Given the description of an element on the screen output the (x, y) to click on. 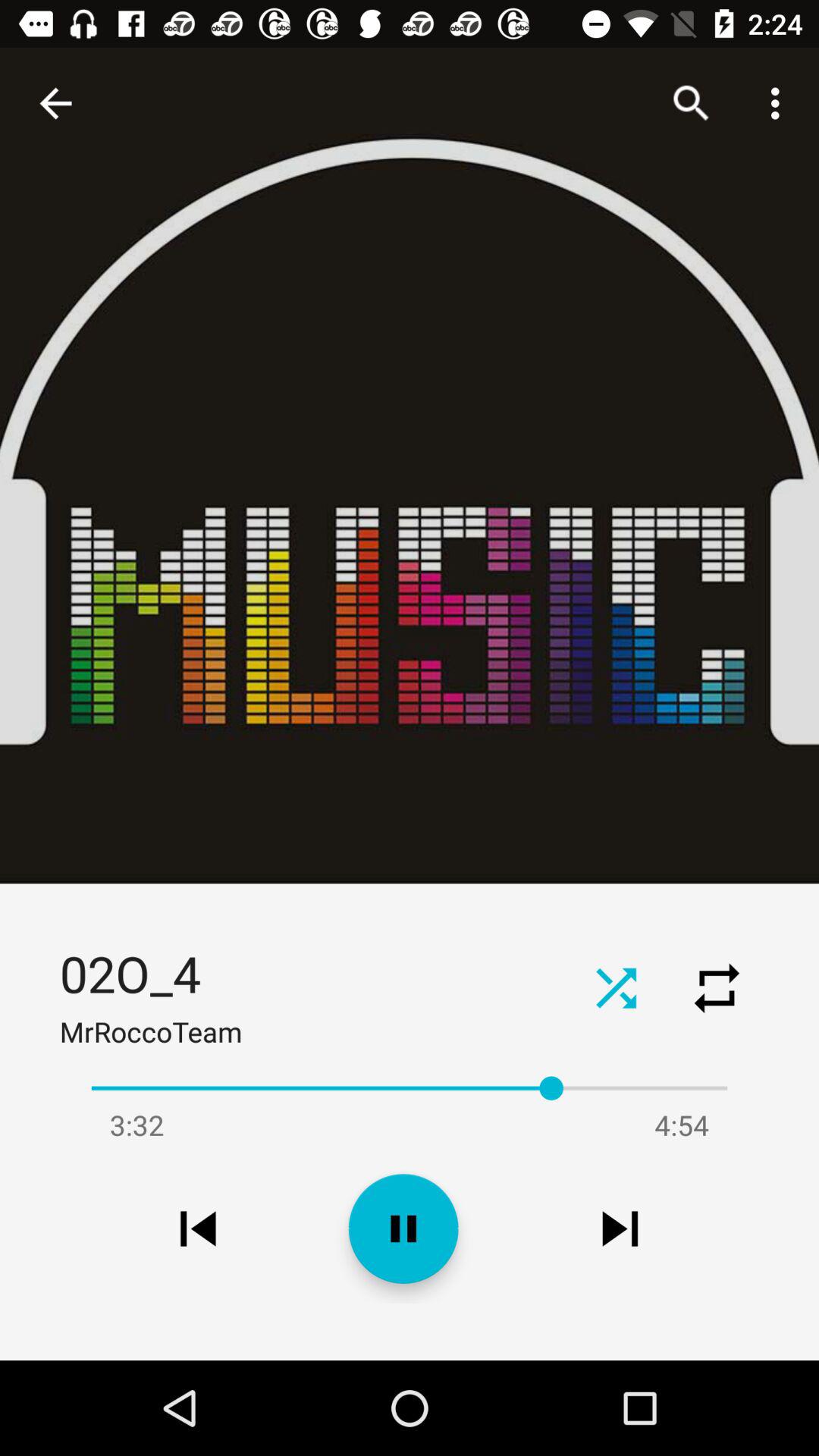
tap icon to the right of mrroccoteam item (615, 987)
